Given the description of an element on the screen output the (x, y) to click on. 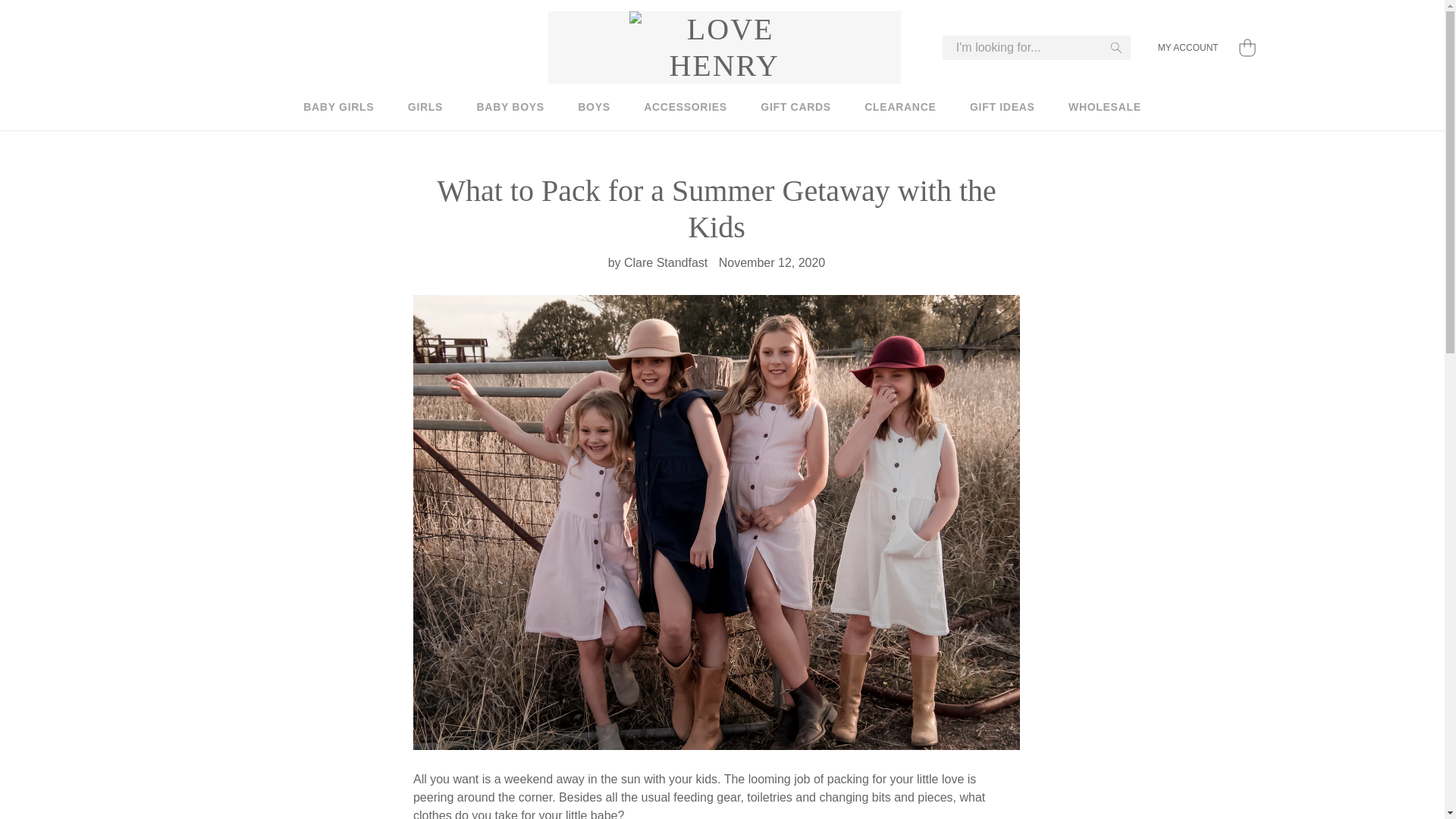
BABY GIRLS (338, 107)
Submit (1116, 47)
MY ACCOUNT (1180, 47)
Cart (1247, 48)
